Given the description of an element on the screen output the (x, y) to click on. 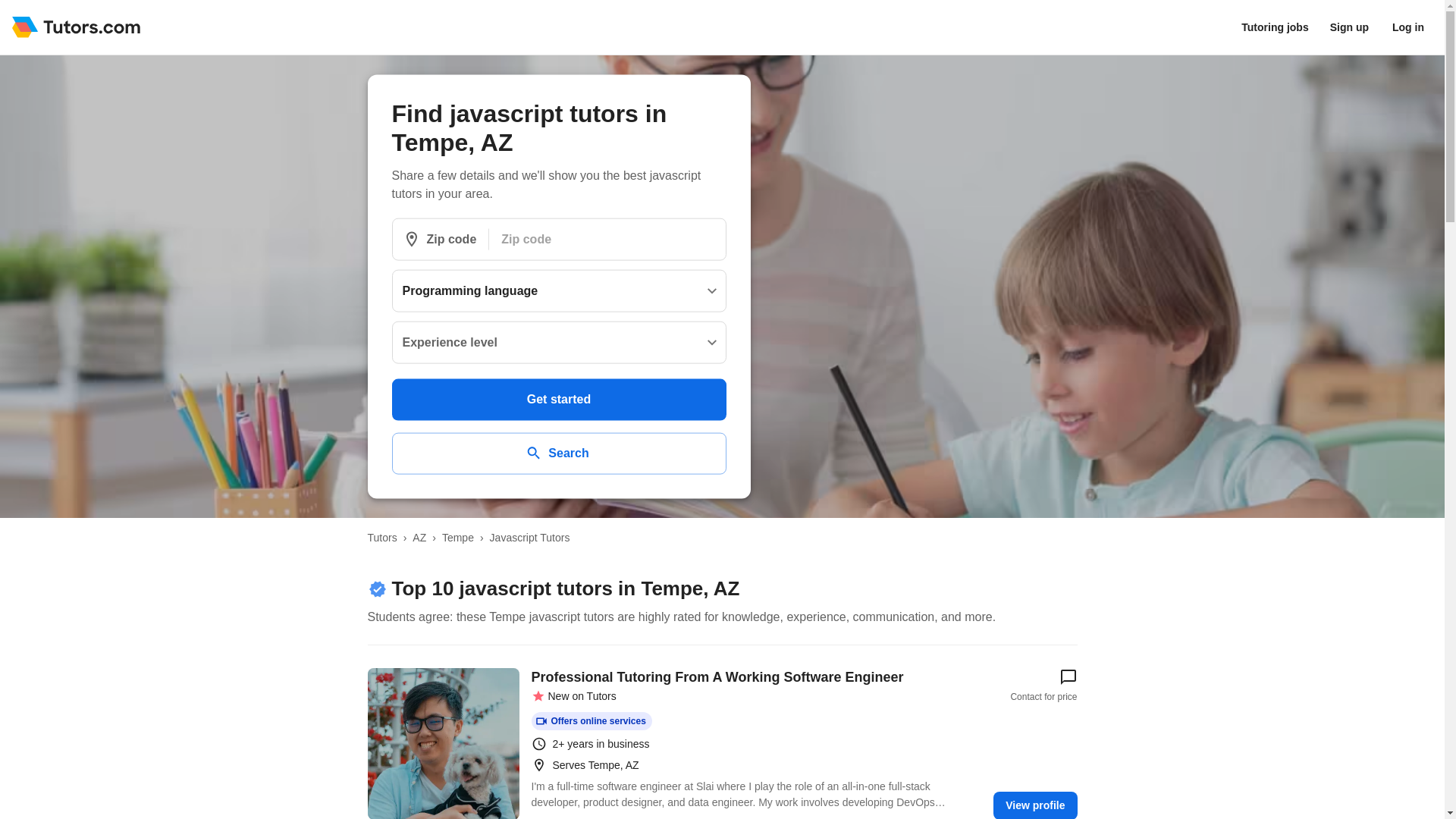
Tutors (381, 537)
Connect with this tutor via an online session. (590, 720)
Professional Tutoring From A Working Software Engineer (442, 743)
Javascript Tutors (529, 537)
Get started (558, 399)
AZ (419, 537)
Tutoring jobs (1274, 27)
Tempe (458, 537)
Search (558, 453)
View profile (1034, 805)
Contact for price (1043, 685)
Log in (1408, 27)
Sign up (1348, 27)
